Given the description of an element on the screen output the (x, y) to click on. 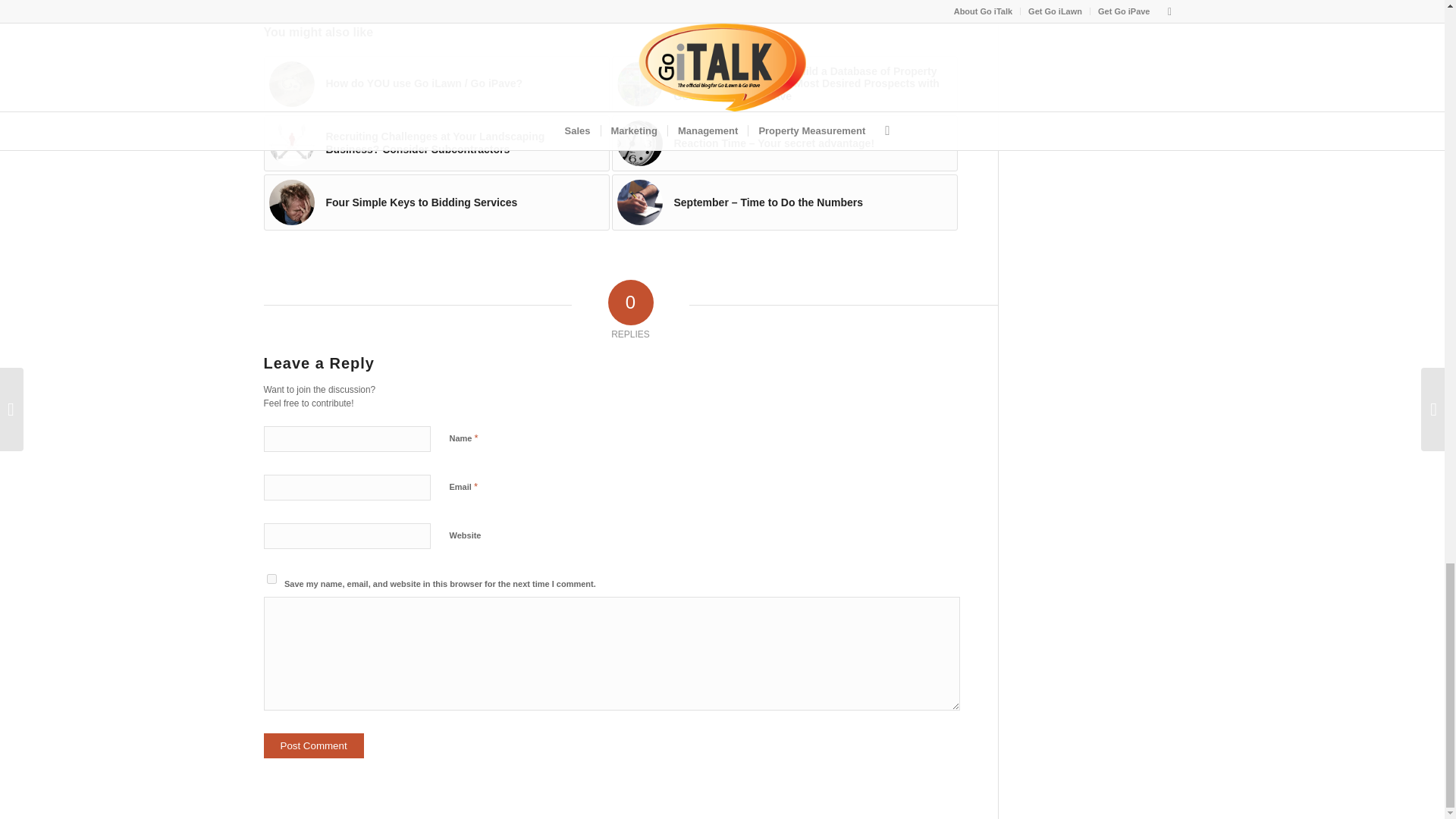
Post Comment (313, 745)
yes (271, 578)
Labor Statue in Detroit (290, 84)
Four Simple Keys to Bidding Services (436, 202)
Post Comment (313, 745)
Go iLawn Spring Services Collage wl (639, 84)
